Given the description of an element on the screen output the (x, y) to click on. 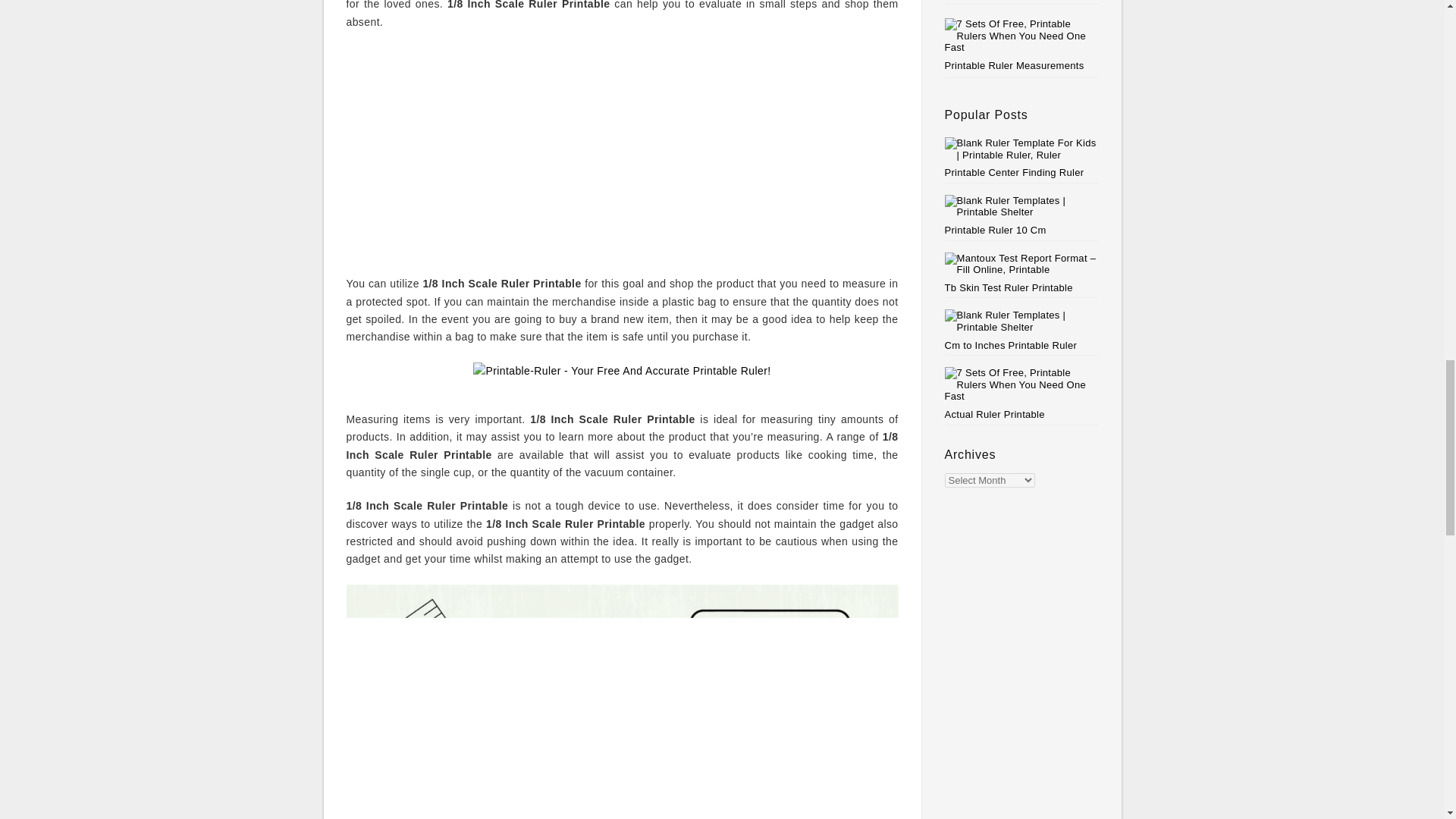
Printable Ruler Measurements (1014, 65)
printable ruler your free and accurate printable ruler 55 (621, 378)
Printable Center Finding Ruler (1021, 158)
12 inch ruler clipart black and white inch ruler clipart 6 (622, 701)
